Given the description of an element on the screen output the (x, y) to click on. 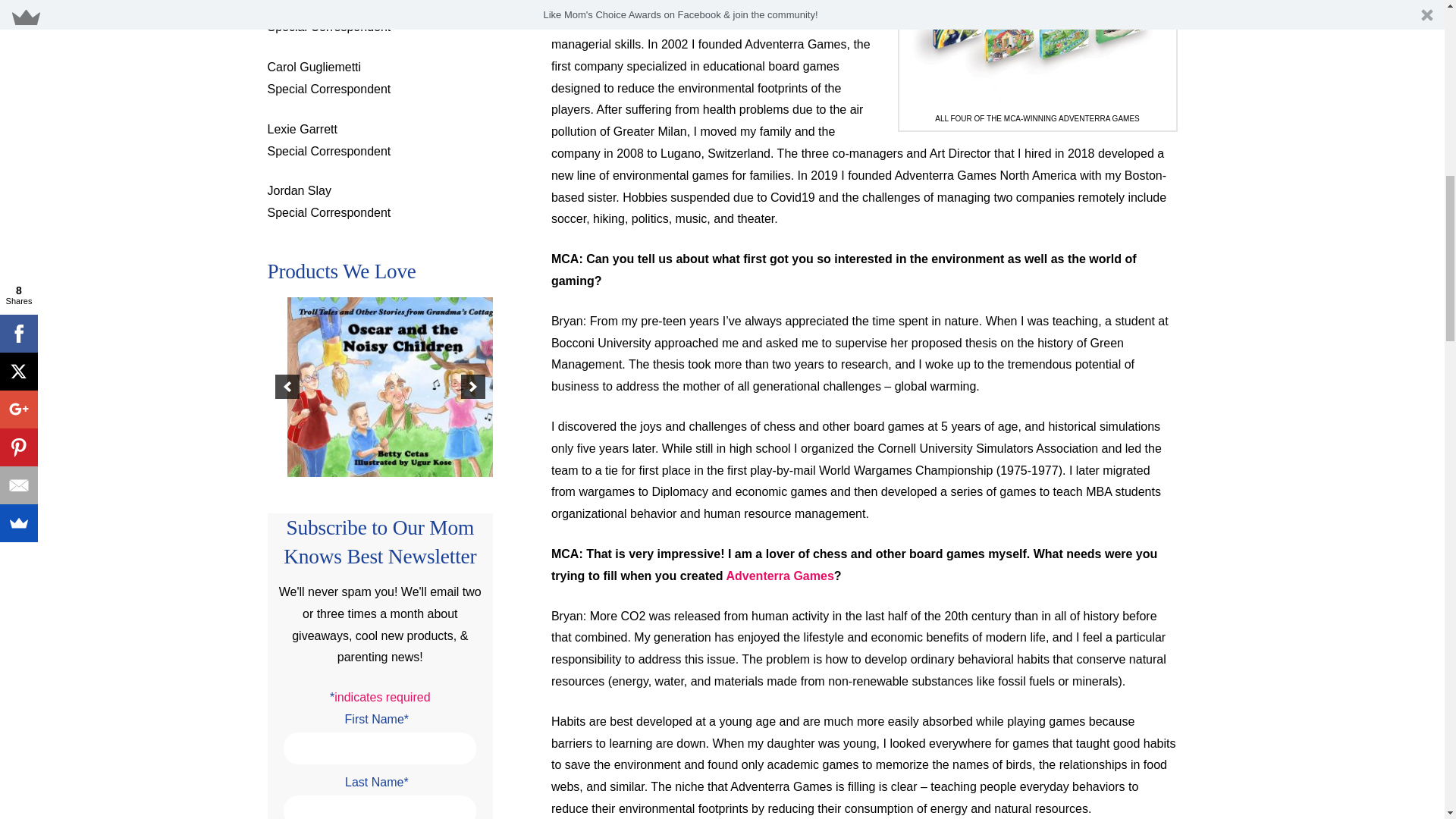
Adventerra Games (778, 575)
